Given the description of an element on the screen output the (x, y) to click on. 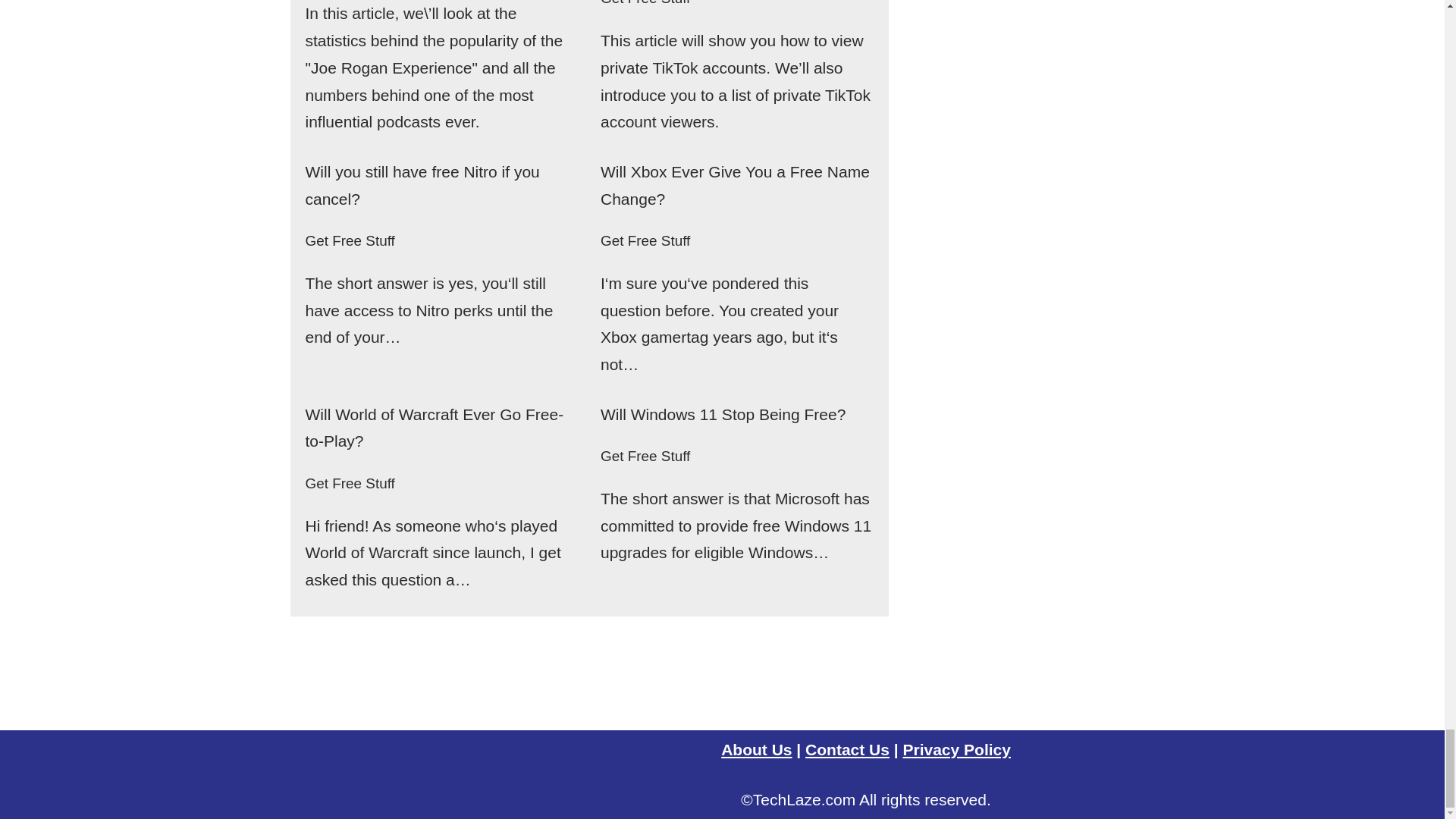
Get Free Stuff (644, 2)
Will you still have free Nitro if you cancel? (421, 185)
Get Free Stuff (349, 240)
